Given the description of an element on the screen output the (x, y) to click on. 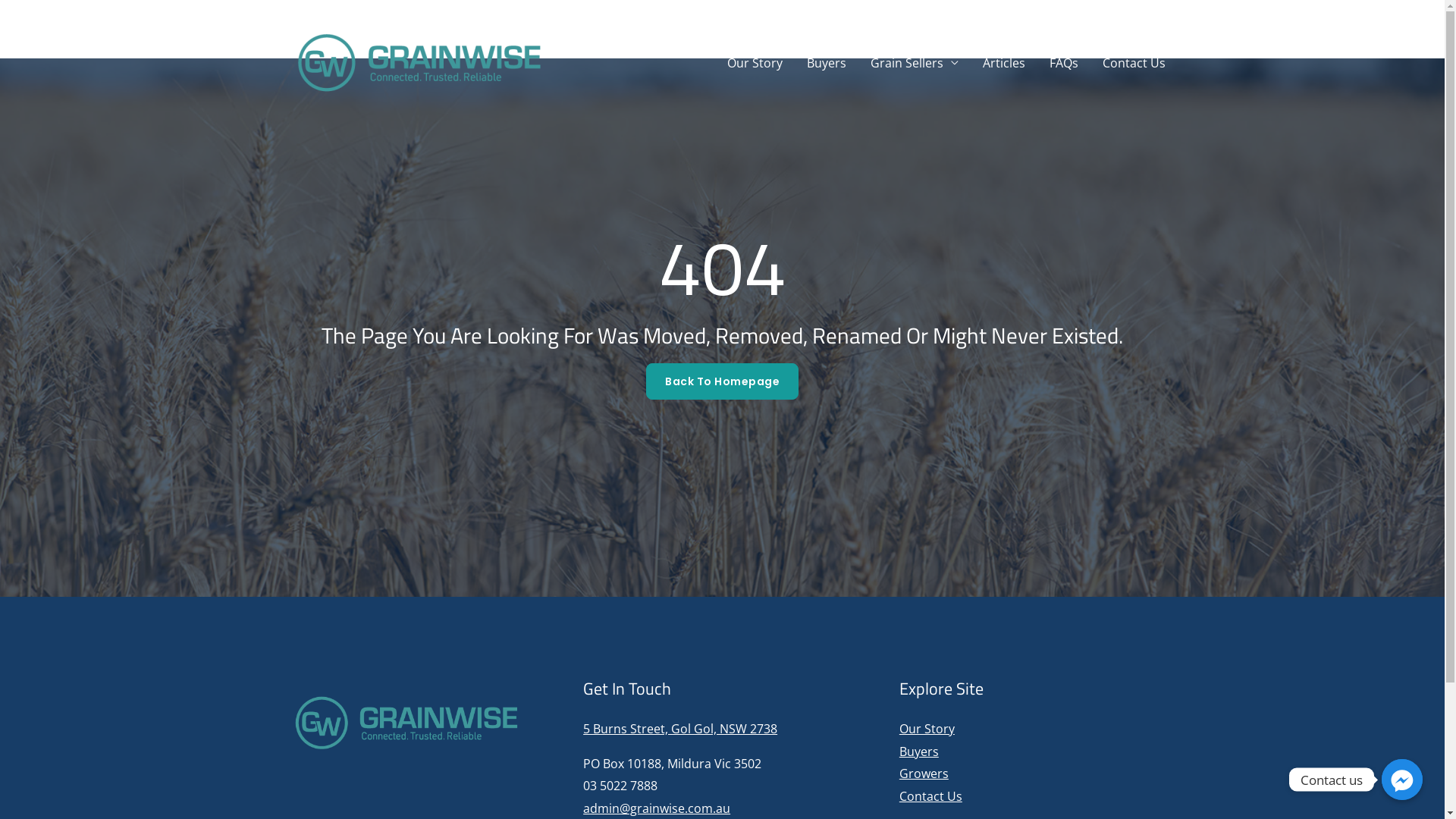
Our Story Element type: text (926, 728)
5 Burns Street, Gol Gol, NSW 2738 Element type: text (680, 728)
Contact Us Element type: text (1133, 62)
Grain Sellers Element type: text (914, 62)
admin@grainwise.com.au Element type: text (656, 808)
FAQs Element type: text (1063, 62)
Buyers Element type: text (826, 62)
Contact Us Element type: text (930, 795)
Buyers Element type: text (918, 751)
Our Story Element type: text (753, 62)
Contact us Element type: text (1401, 779)
Growers Element type: text (923, 773)
Back To Homepage Element type: text (722, 381)
Articles Element type: text (1003, 62)
